Given the description of an element on the screen output the (x, y) to click on. 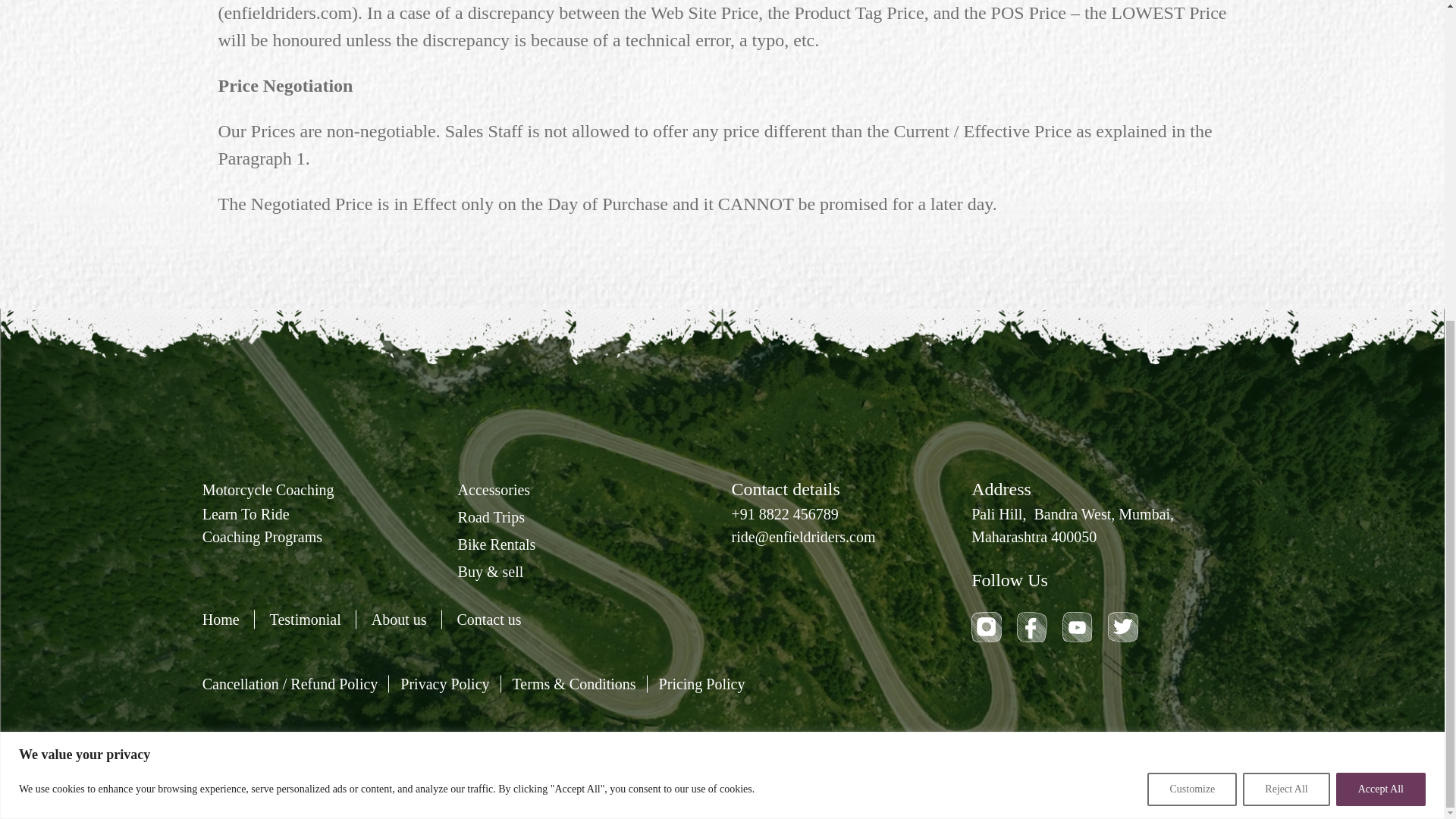
Reject All (1286, 267)
Accept All (1380, 267)
Customize (1191, 267)
